Given the description of an element on the screen output the (x, y) to click on. 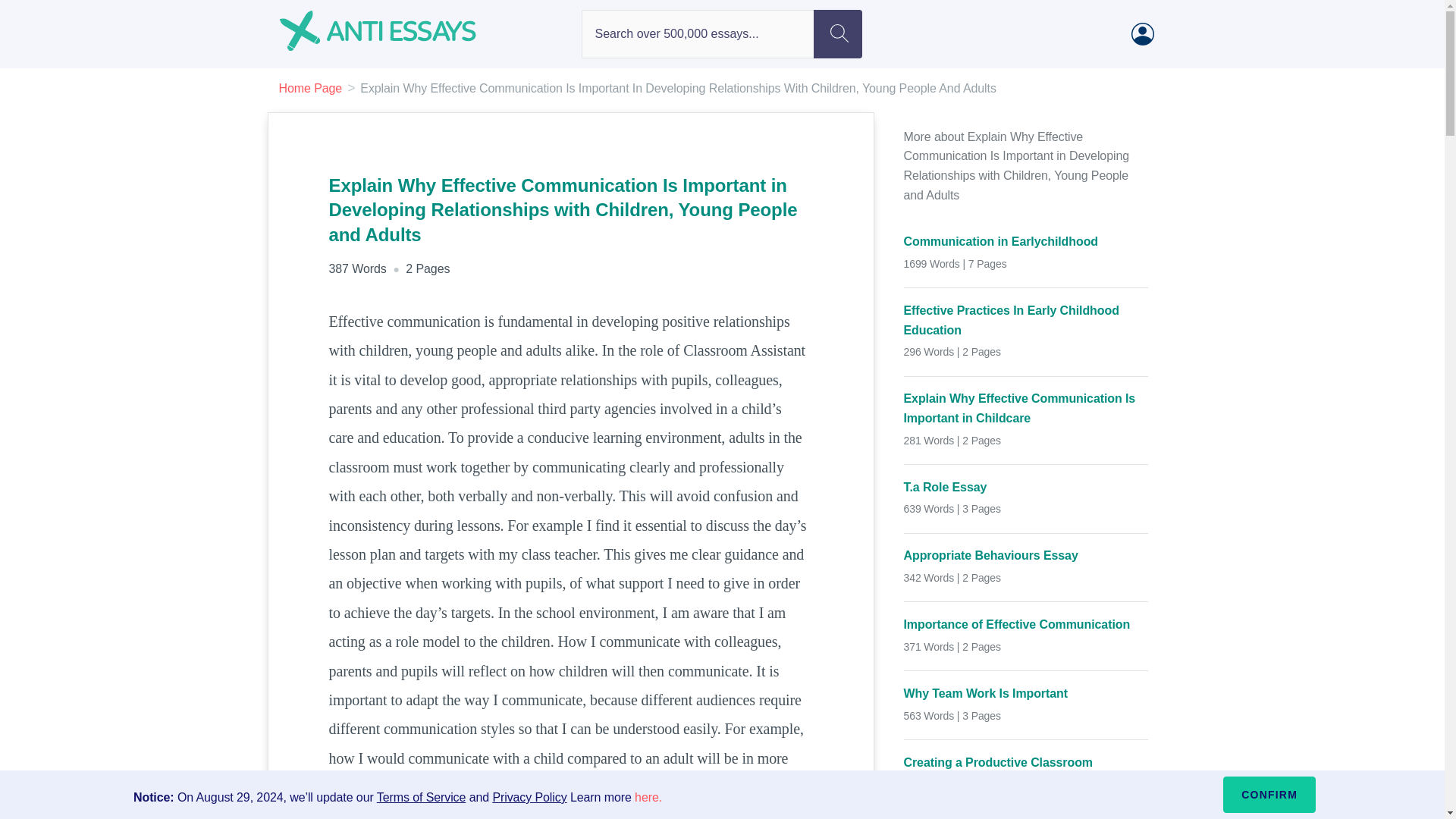
Appropriate Behaviours Essay (1026, 555)
Communication in Earlychildhood (1026, 241)
Effective Practices In Early Childhood Education (1026, 320)
Importance of Effective Communication (1026, 624)
Home Page (310, 88)
Creating a Productive Classroom Environment (1026, 771)
Why Team Work Is Important (1026, 693)
T.a Role Essay (1026, 487)
